Given the description of an element on the screen output the (x, y) to click on. 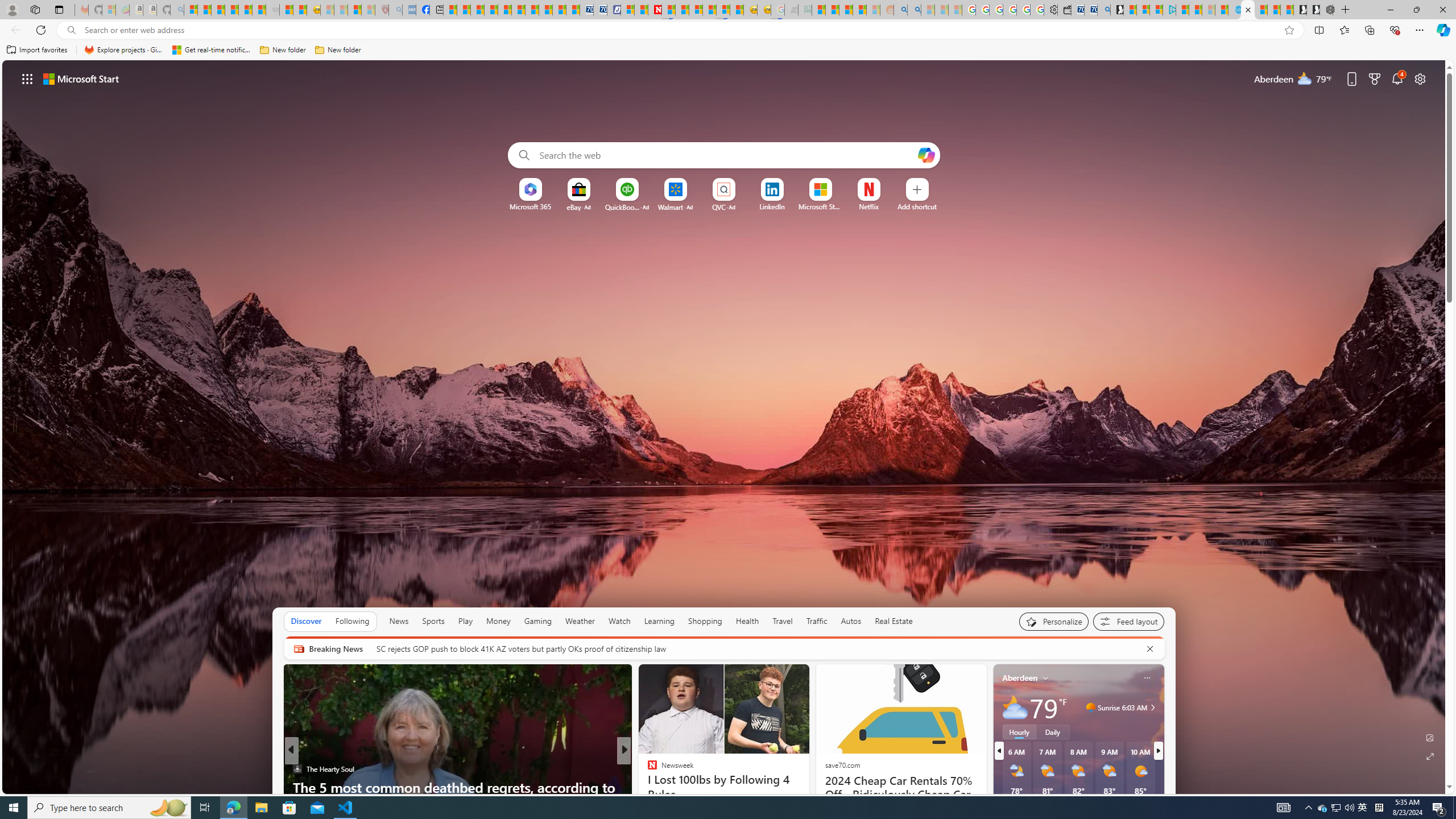
Moneywise (647, 768)
Autos (850, 621)
Microsoft start (81, 78)
